Given the description of an element on the screen output the (x, y) to click on. 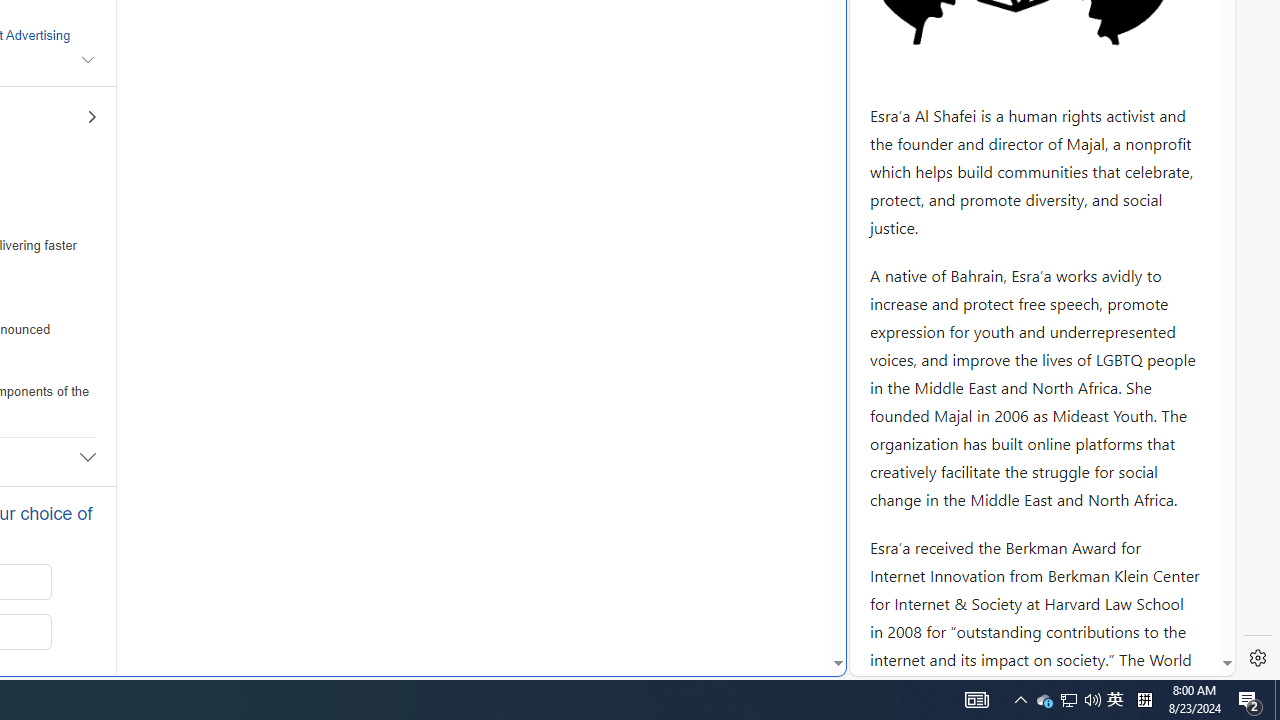
AutomationID: mfa_root (762, 603)
